Given the description of an element on the screen output the (x, y) to click on. 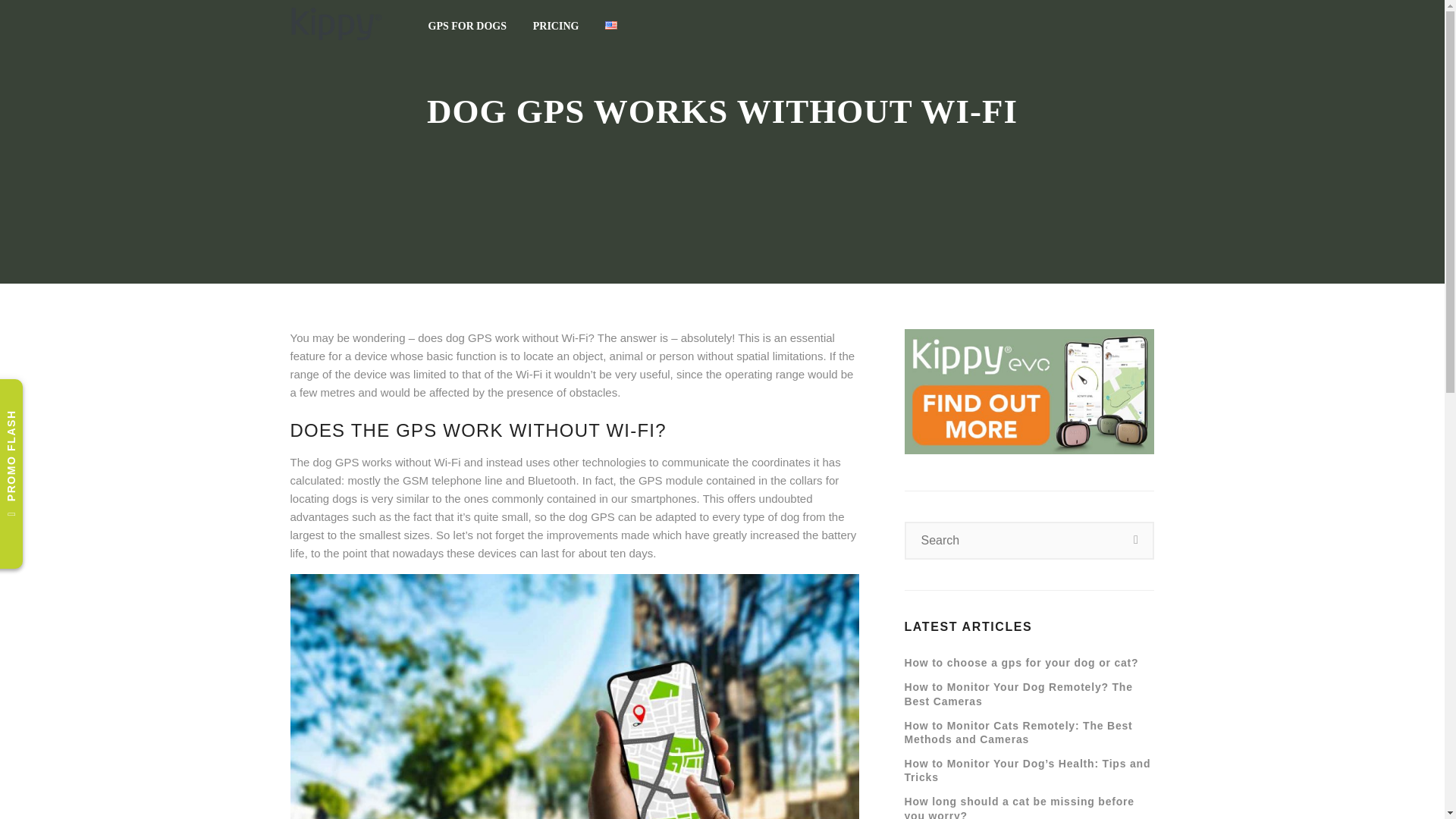
Search (1136, 540)
English (611, 25)
How to choose a gps for your dog or cat? (1021, 662)
PRICING (555, 26)
GPS FOR DOGS (768, 26)
How to Monitor Your Dog Remotely? The Best Cameras (467, 26)
How to Monitor Cats Remotely: The Best Methods and Cameras (1018, 693)
How long should a cat be missing before you worry? (1018, 732)
